Given the description of an element on the screen output the (x, y) to click on. 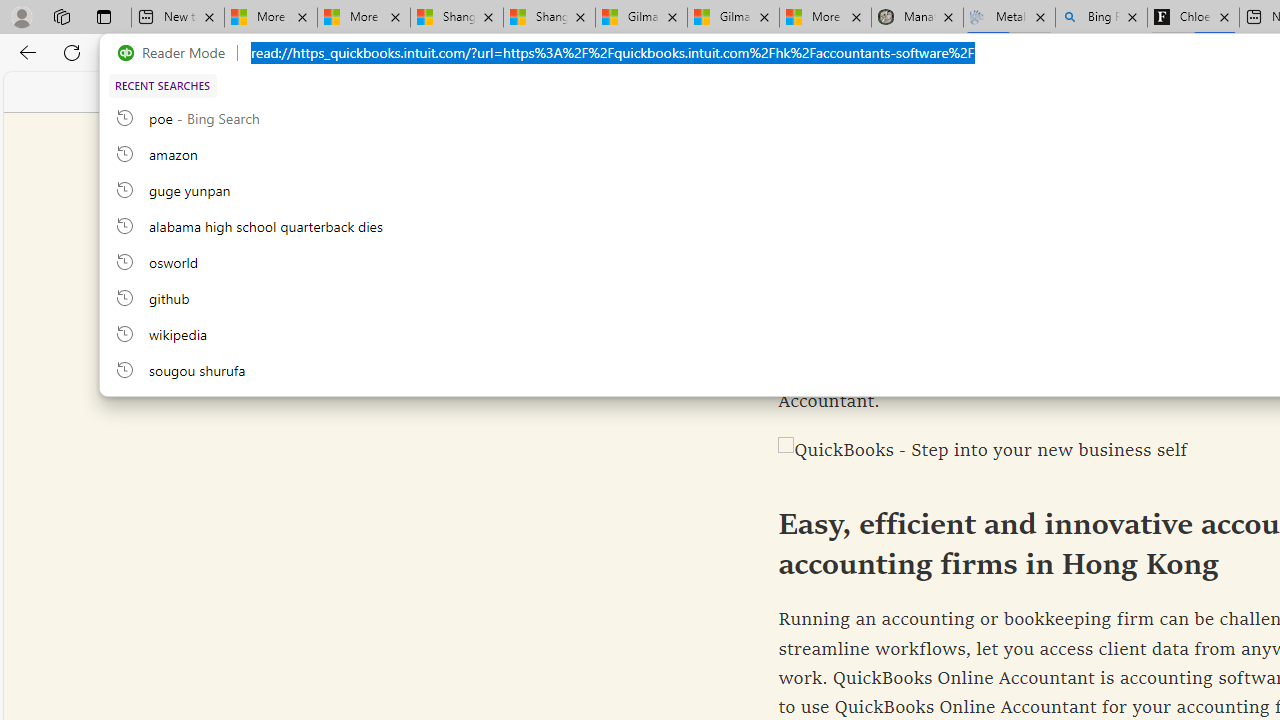
Reader Mode (177, 53)
Manatee Mortality Statistics | FWC (916, 17)
Chloe Sorvino (1193, 17)
Gilma and Hector both pose tropical trouble for Hawaii (733, 17)
Bing Real Estate - Home sales and rental listings (1101, 17)
